Given the description of an element on the screen output the (x, y) to click on. 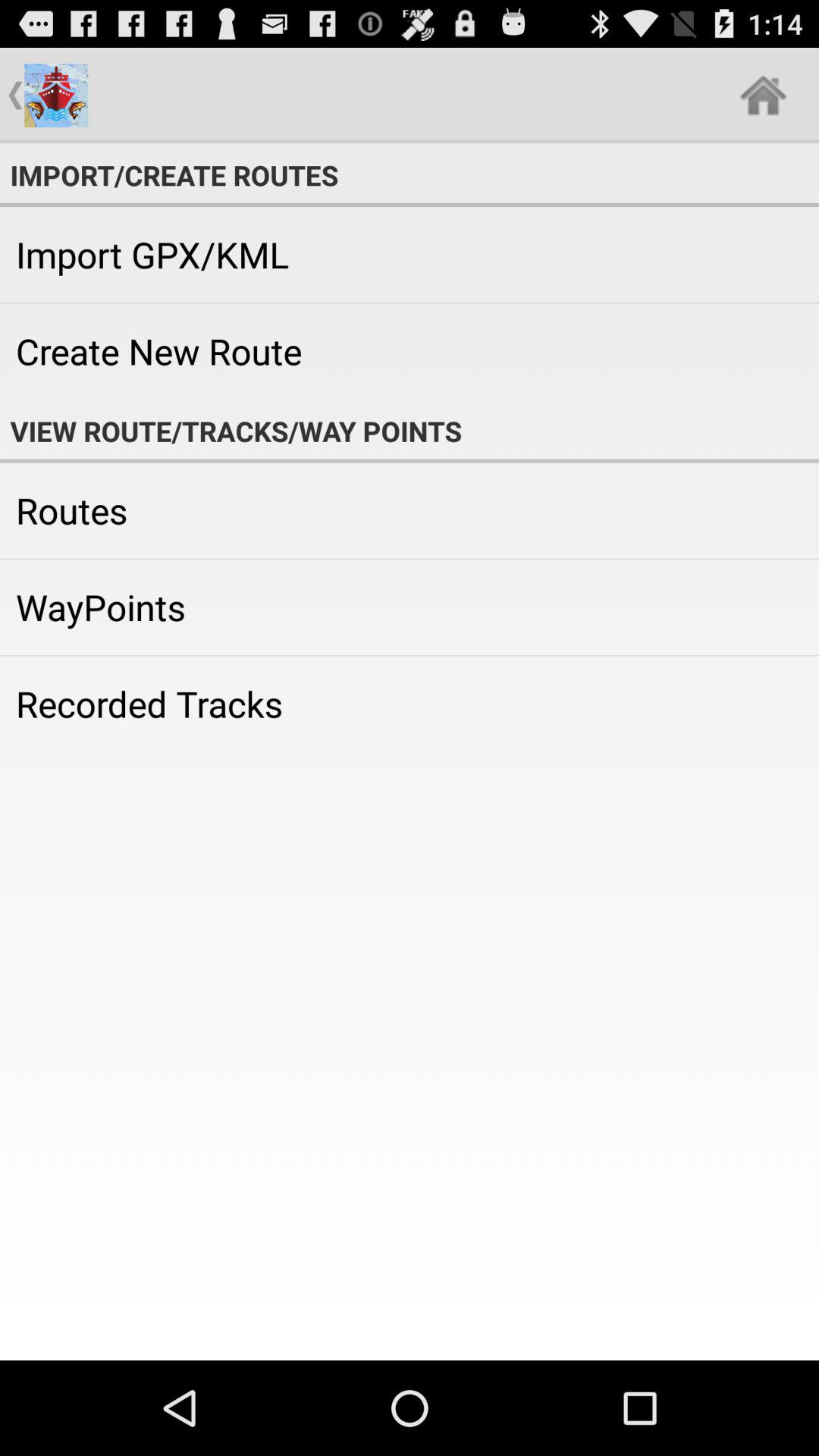
turn on the waypoints icon (409, 607)
